Given the description of an element on the screen output the (x, y) to click on. 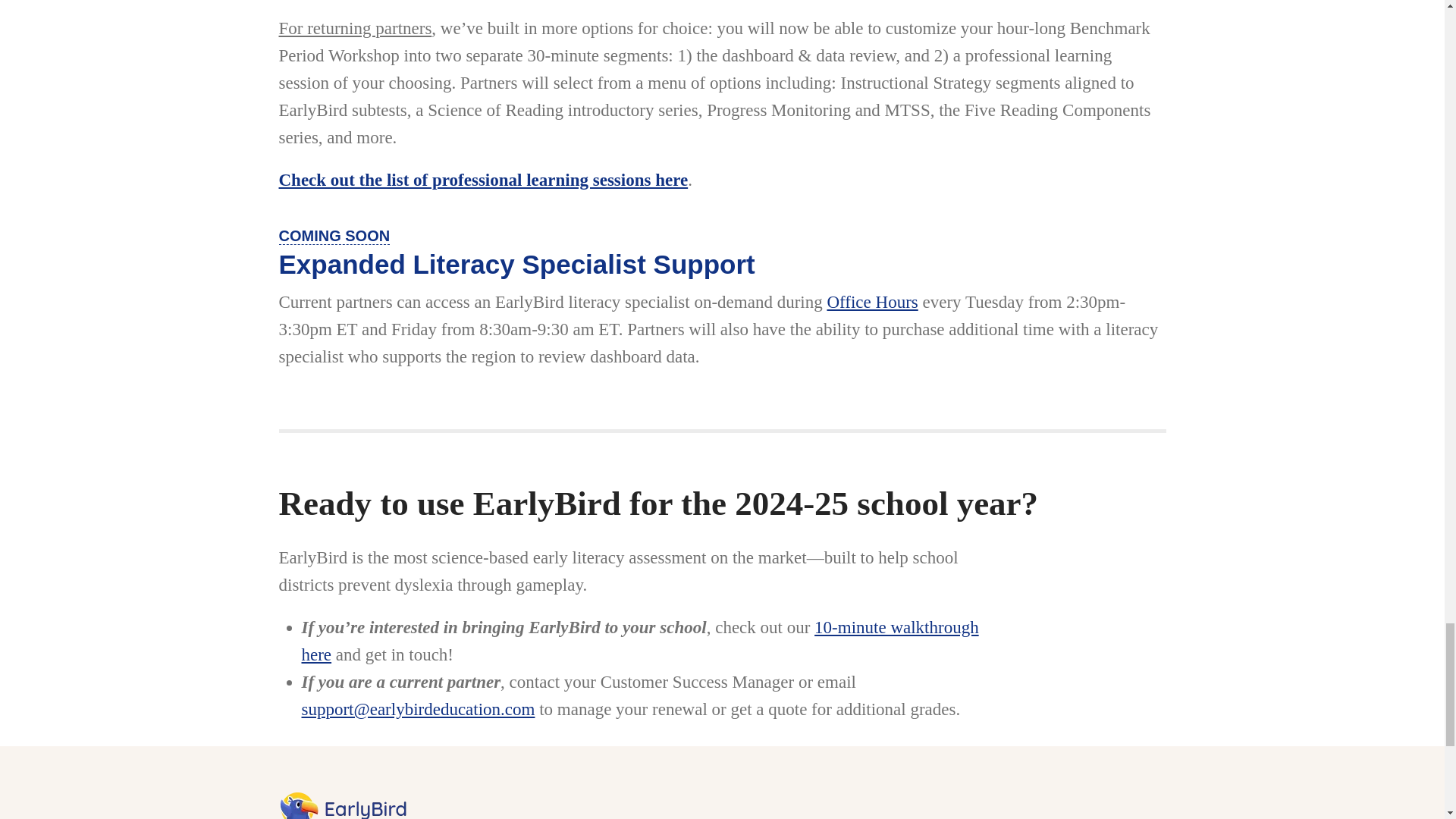
Check out the list of professional learning sessions here (483, 179)
